Given the description of an element on the screen output the (x, y) to click on. 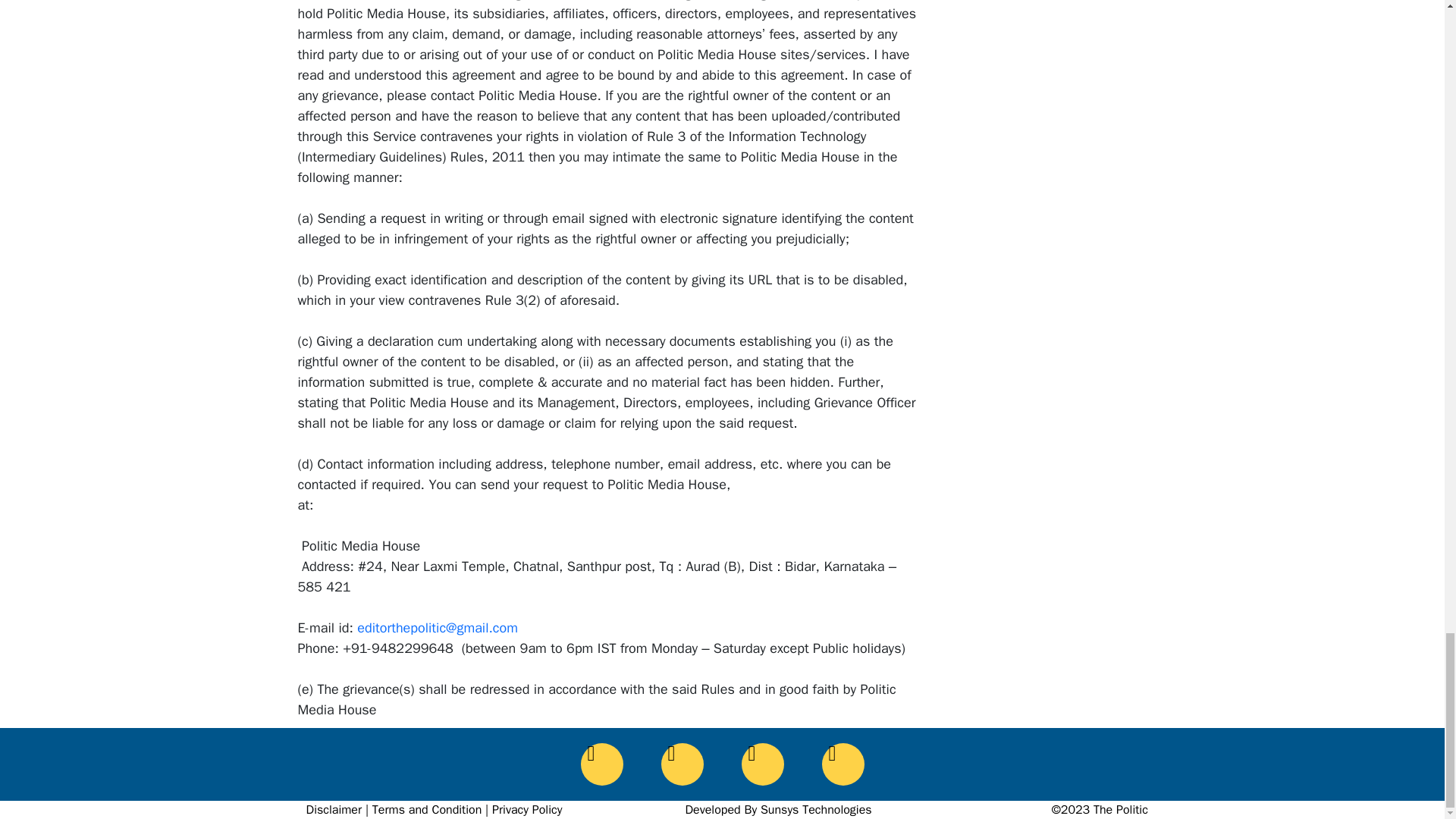
Sunsys Technologies (816, 809)
Terms and Condition (426, 809)
Privacy Policy (527, 809)
Disclaimer (333, 809)
